Given the description of an element on the screen output the (x, y) to click on. 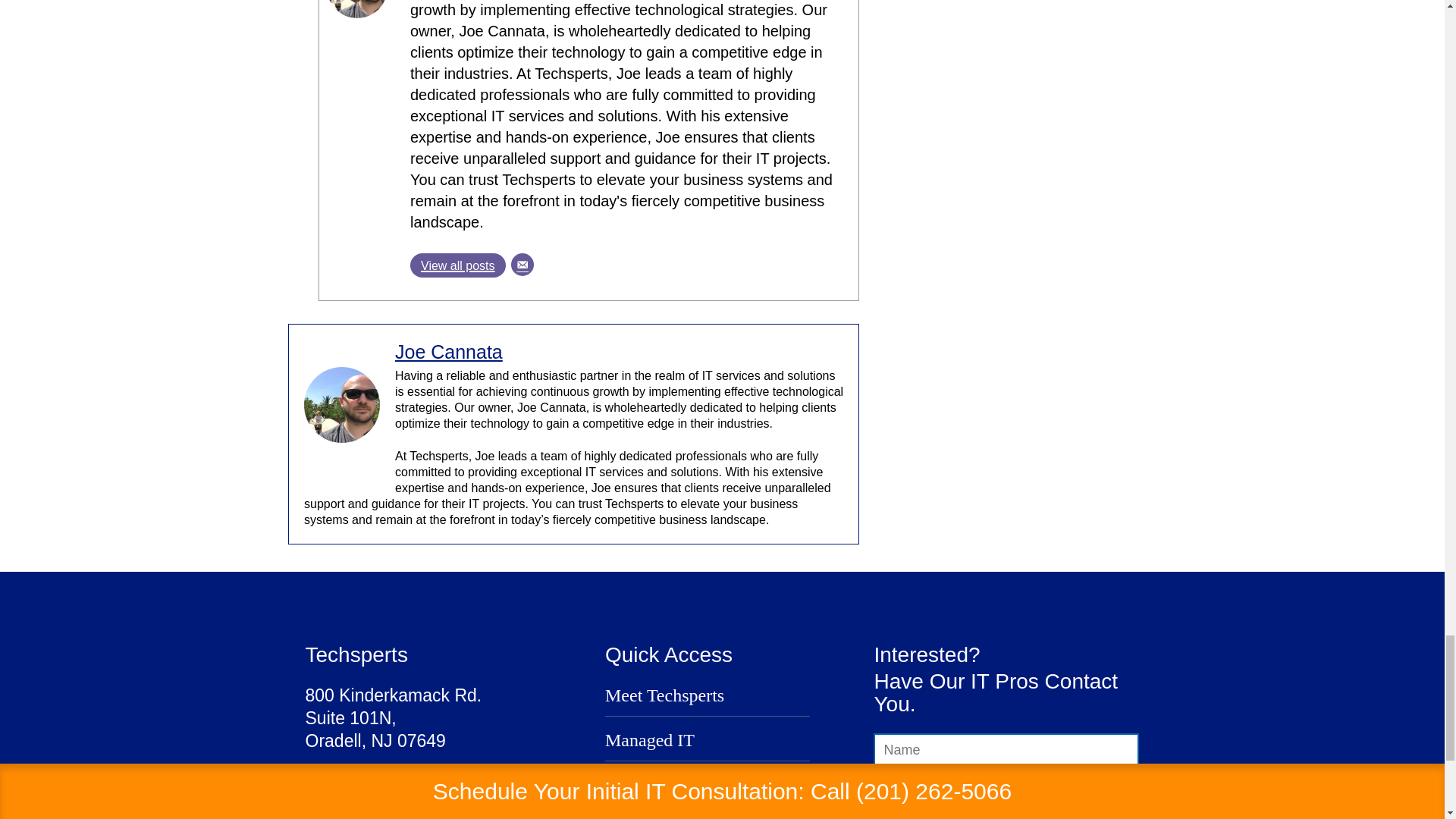
View all posts (457, 265)
Joe Cannata (448, 351)
View all posts (457, 265)
